Given the description of an element on the screen output the (x, y) to click on. 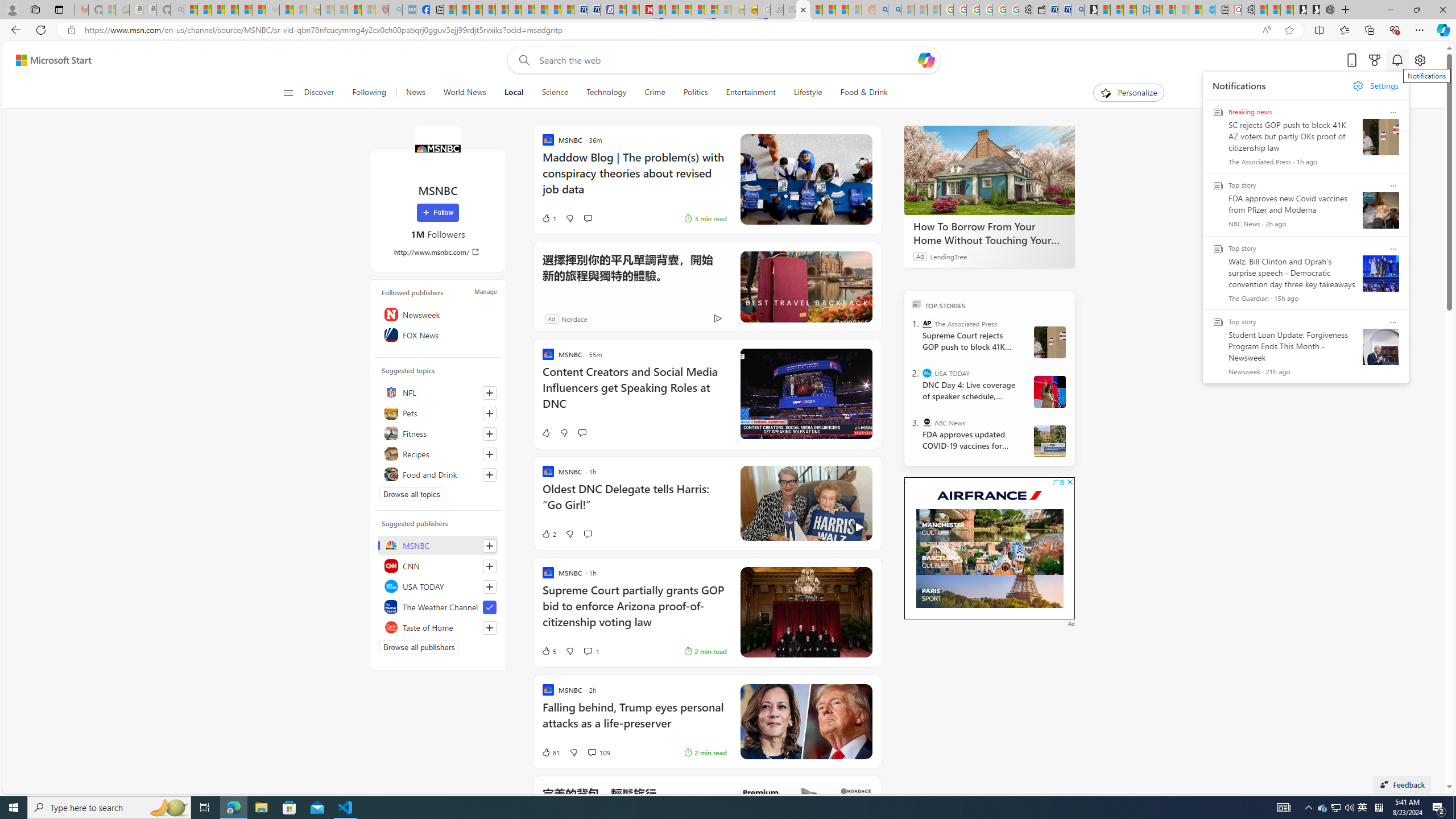
Microsoft-Report a Concern to Bing - Sleeping (108, 9)
Crime (654, 92)
Lifestyle (807, 92)
MSNBC (437, 545)
Stocks - MSN (258, 9)
2 Like (547, 533)
